Given the description of an element on the screen output the (x, y) to click on. 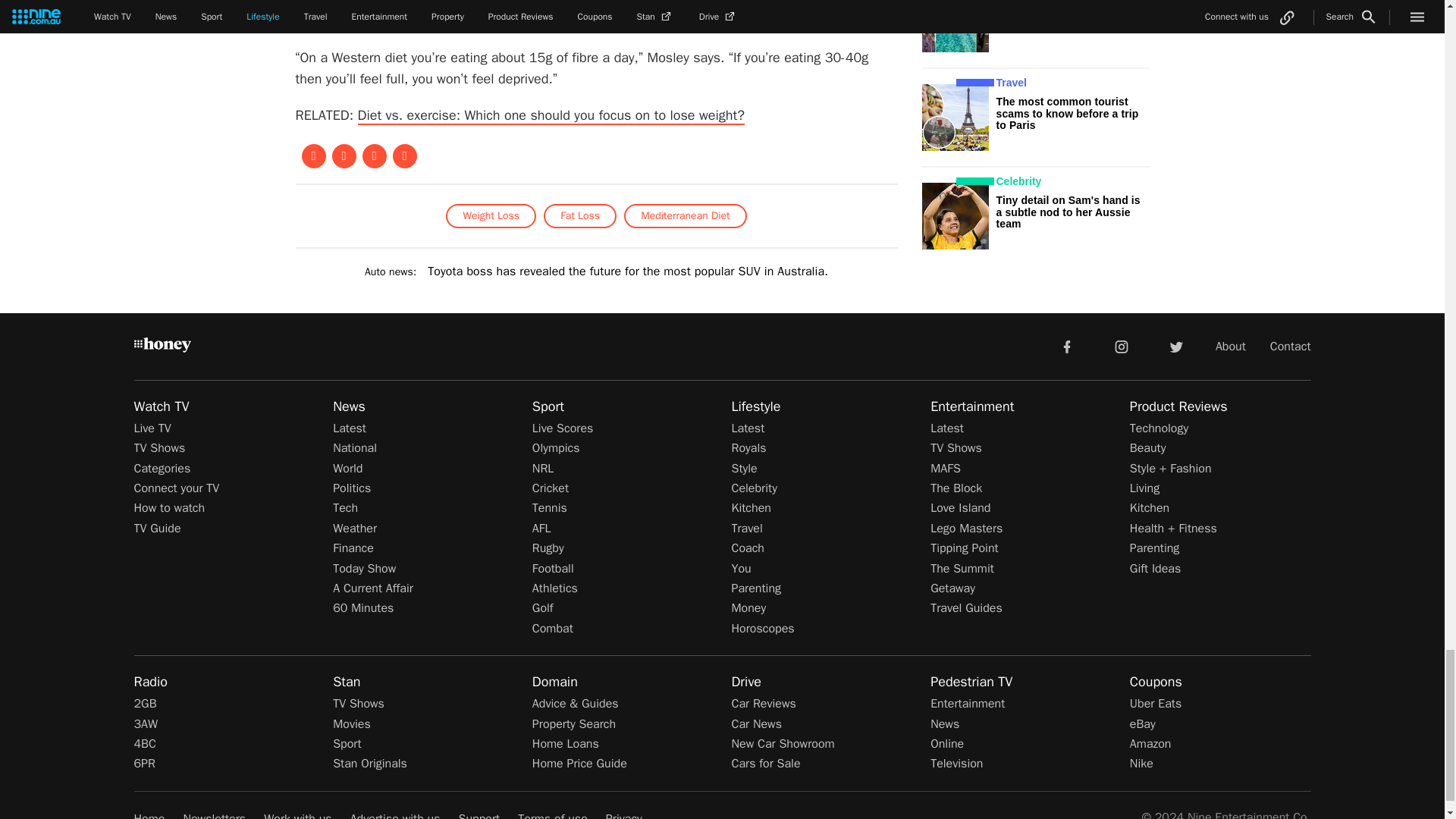
twitter (1175, 345)
facebook (1066, 345)
instagram (1121, 345)
